Given the description of an element on the screen output the (x, y) to click on. 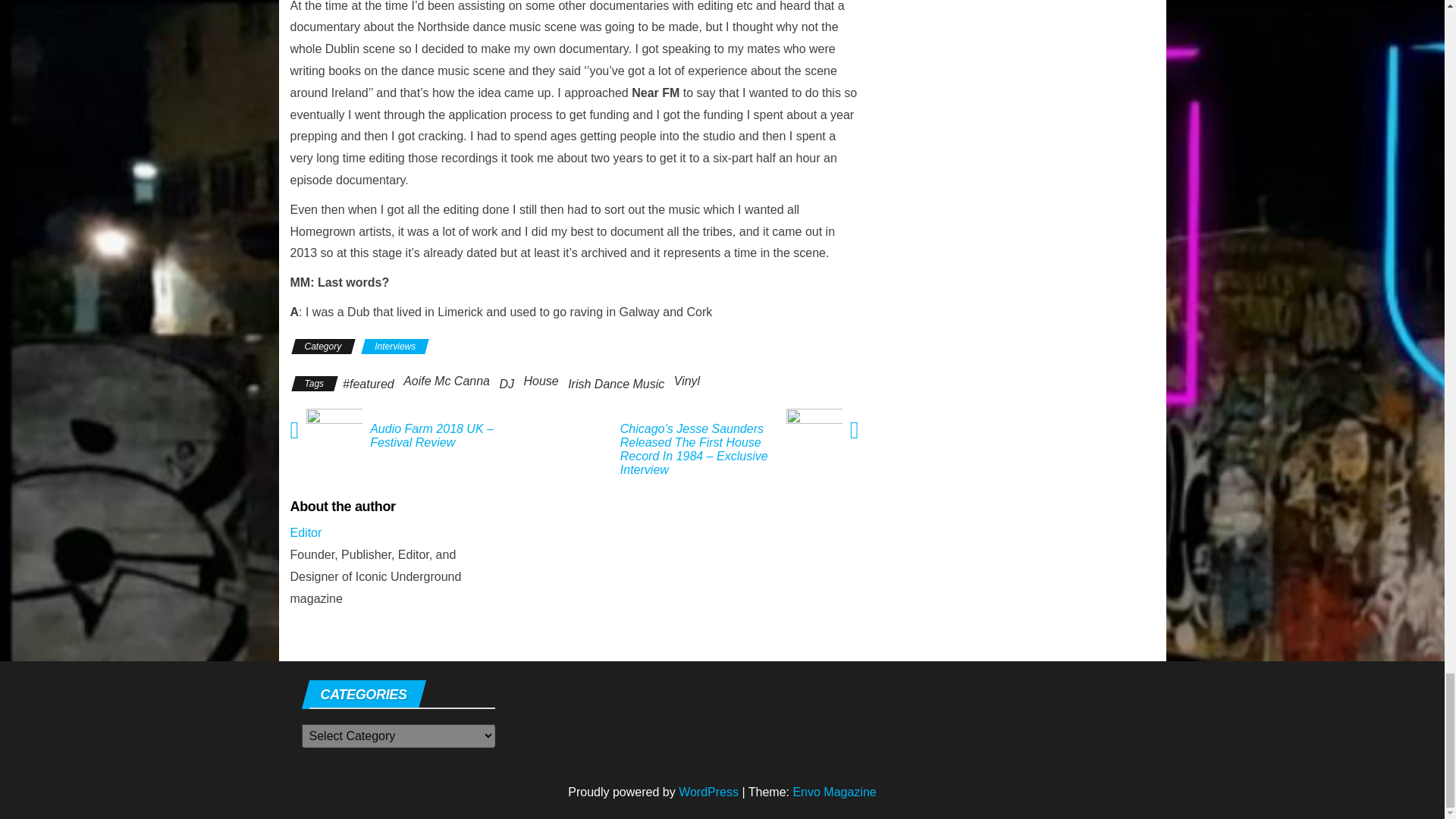
Aoife Mc Canna (446, 380)
Editor (305, 532)
DJ (506, 383)
Posts by Editor (305, 532)
Vinyl (687, 380)
House (539, 380)
Interviews (394, 346)
Irish Dance Music (615, 383)
